Given the description of an element on the screen output the (x, y) to click on. 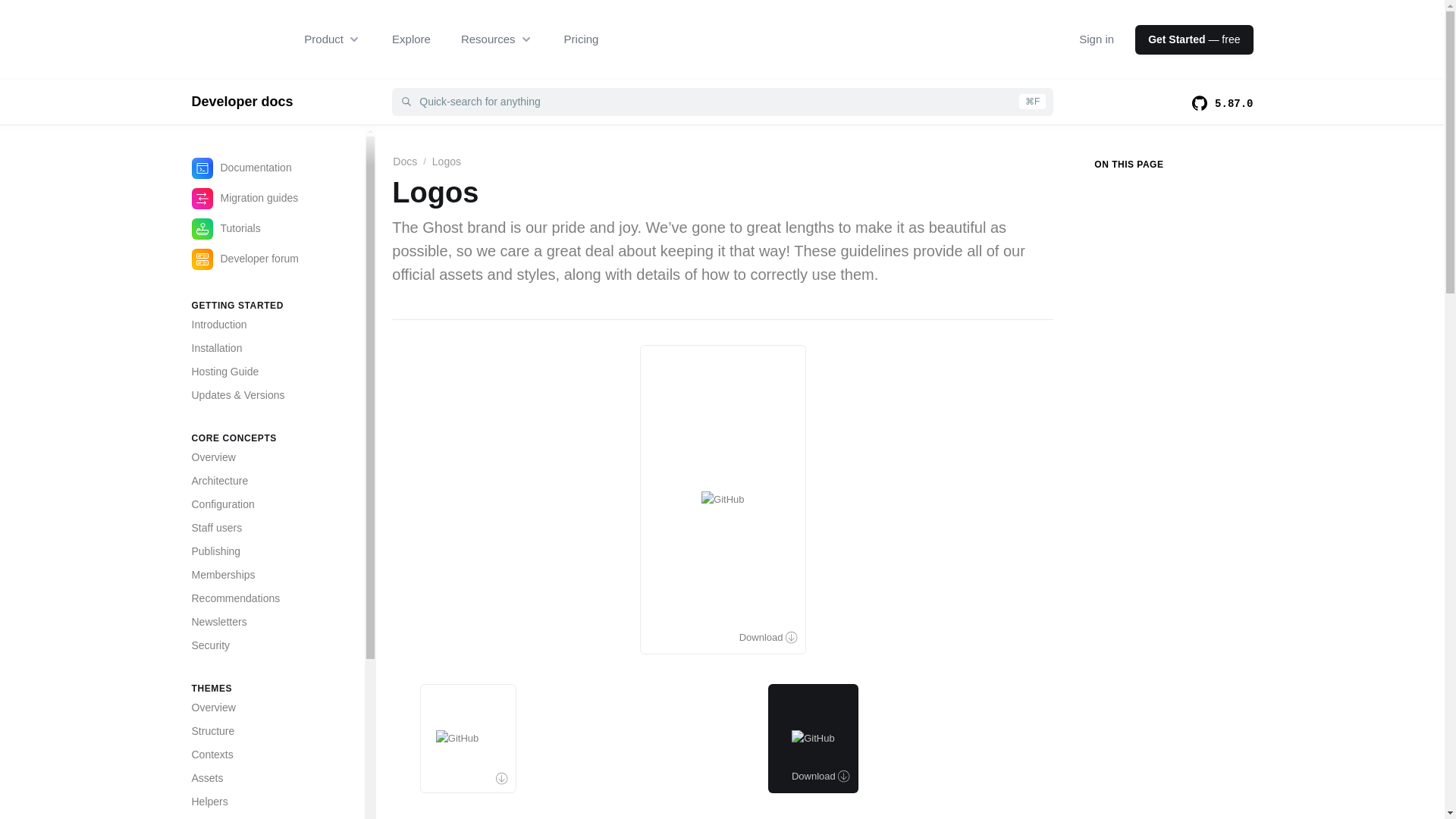
Pricing (581, 39)
Resources (497, 39)
Product (332, 39)
Explore (410, 39)
Sign in (1095, 39)
